Given the description of an element on the screen output the (x, y) to click on. 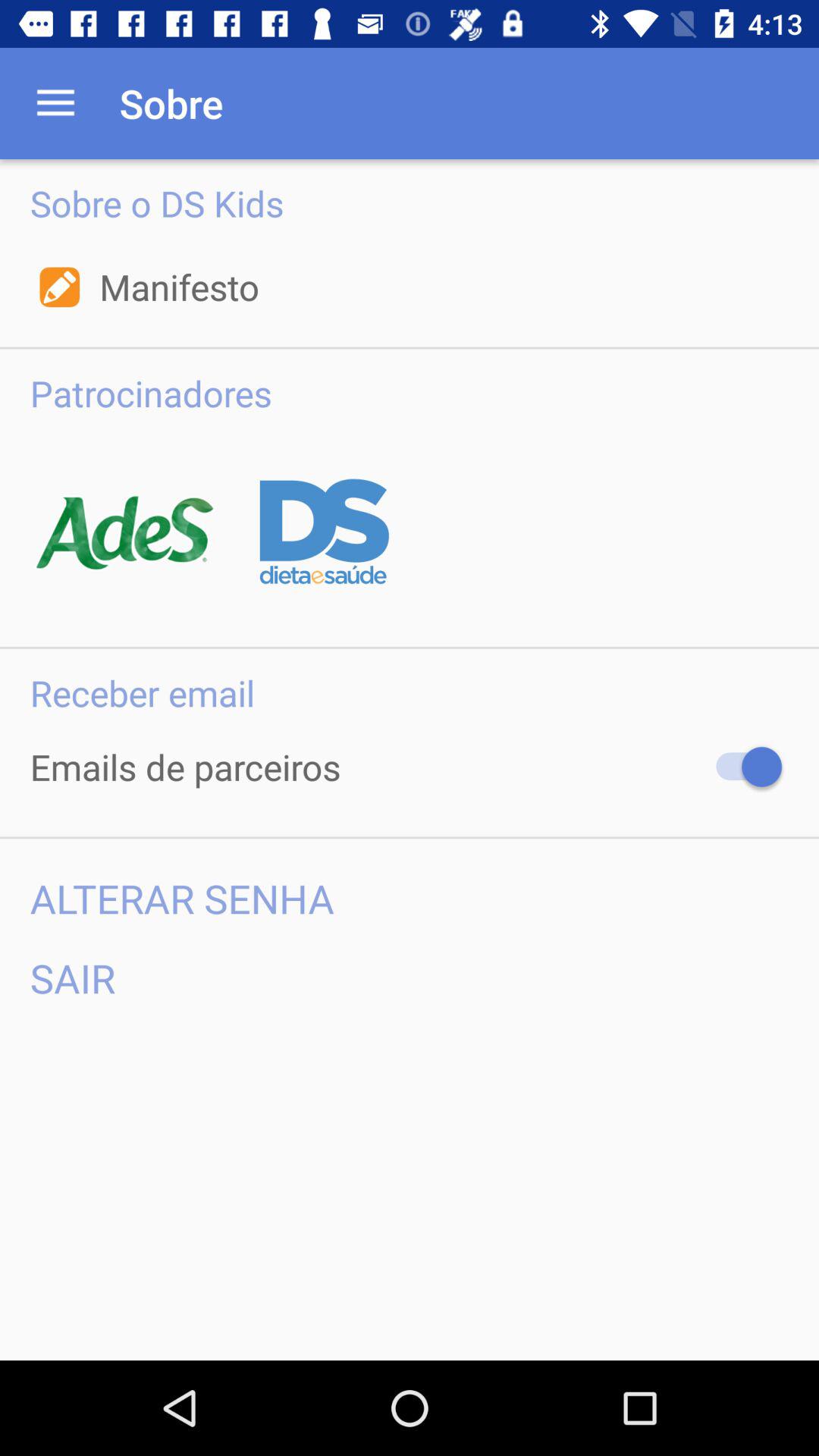
turn on the item above the sobre o ds (55, 103)
